Given the description of an element on the screen output the (x, y) to click on. 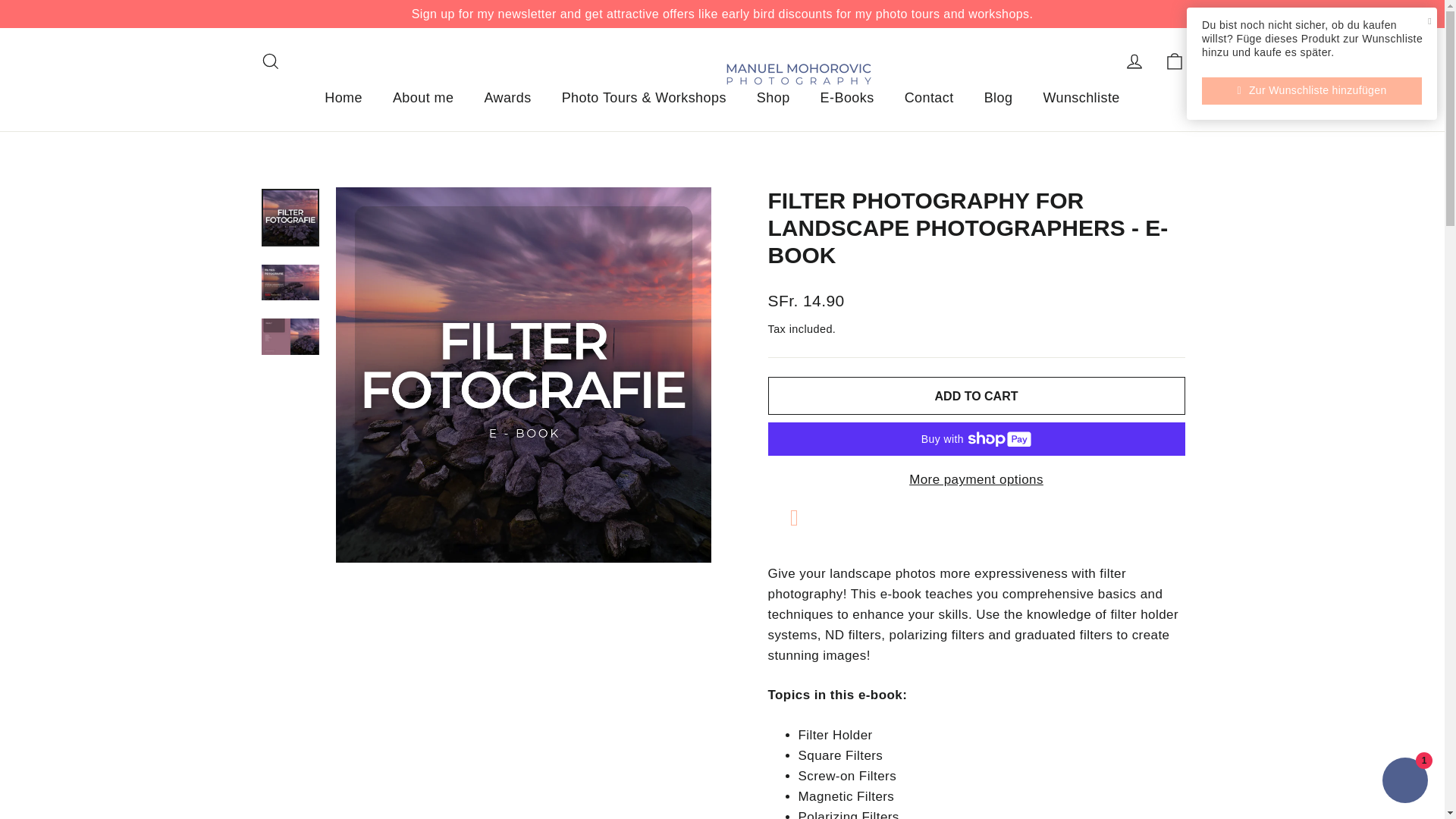
Contact (929, 98)
Wunschliste (1173, 61)
Awards (1080, 98)
Shop (507, 98)
About me (773, 98)
account (422, 98)
Shopify online store chat (1134, 61)
E-Books (1404, 781)
Home (847, 98)
Blog (342, 98)
icon-bag-minimal (998, 98)
icon-search (1174, 61)
